Given the description of an element on the screen output the (x, y) to click on. 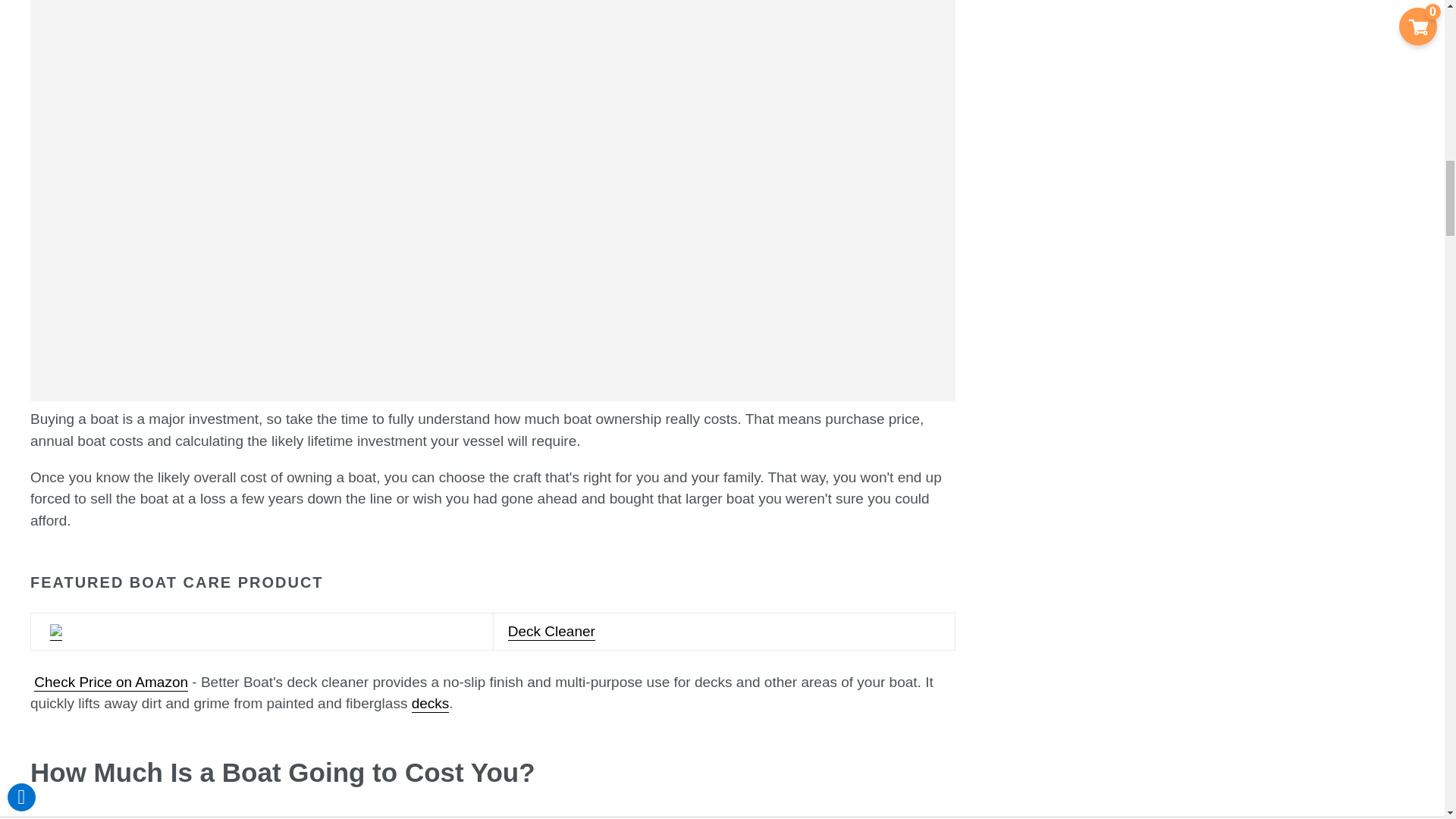
     Deck Cleaner (492, 641)
